Given the description of an element on the screen output the (x, y) to click on. 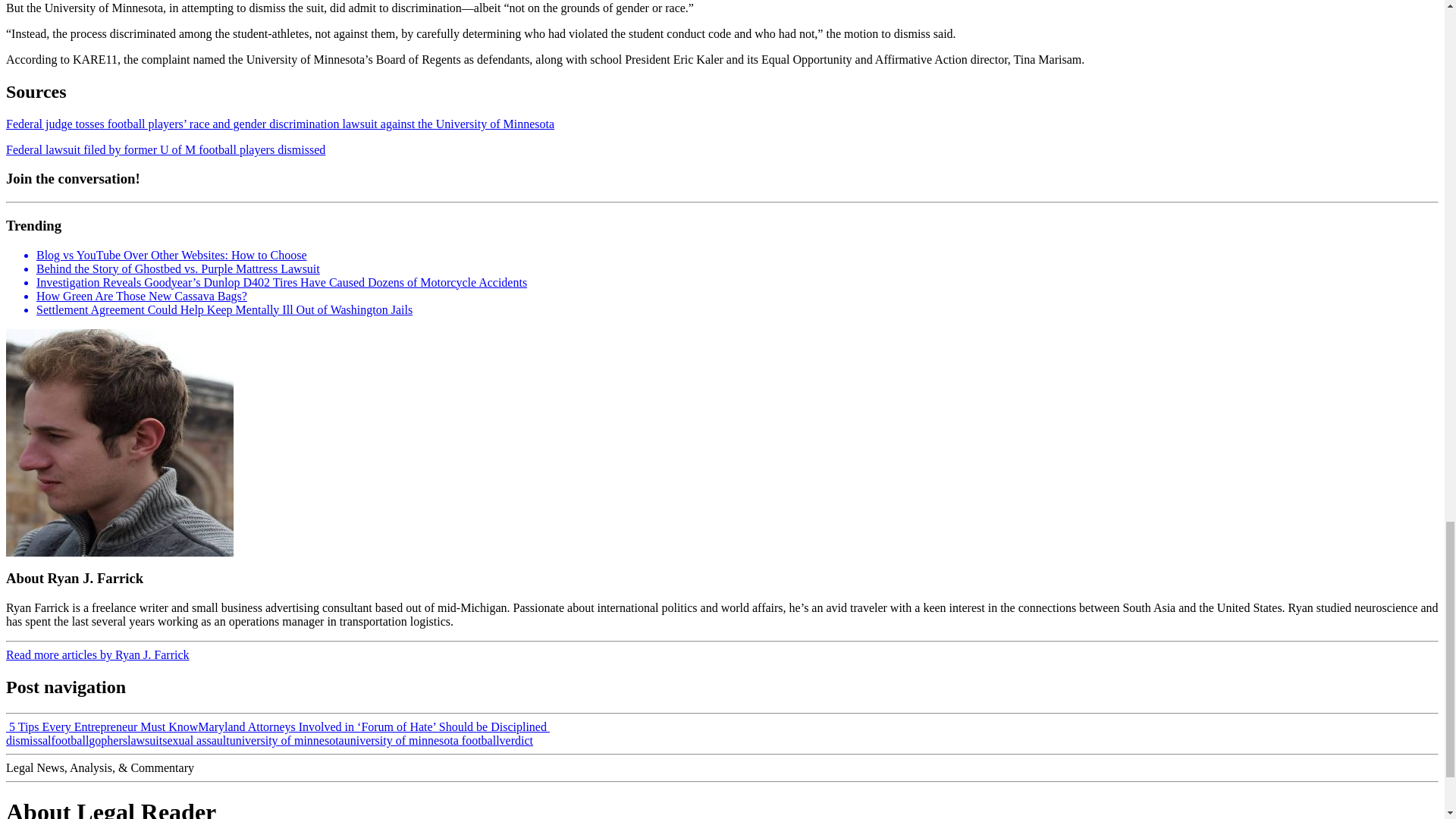
Read more articles by Ryan J. Farrick (97, 654)
university of minnesota (286, 739)
verdict (515, 739)
sexual assault (194, 739)
gophers (108, 739)
university of minnesota football (421, 739)
dismissal (27, 739)
Read more articles by Ryan J. Farrick (97, 654)
lawsuit (144, 739)
football (69, 739)
